Given the description of an element on the screen output the (x, y) to click on. 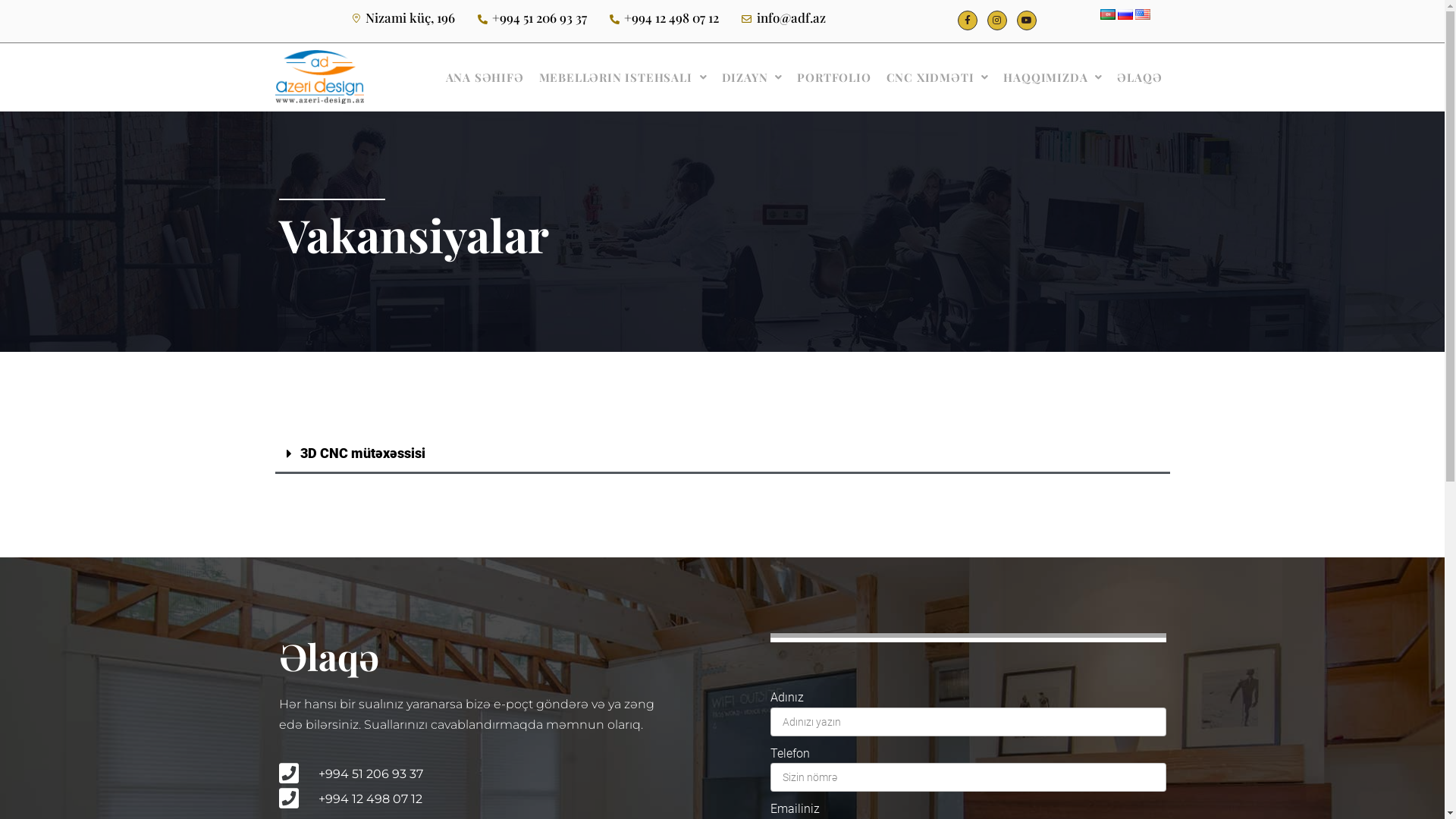
PORTFOLIO Element type: text (833, 77)
HAQQIMIZDA Element type: text (1052, 77)
+994 51 206 93 37 Element type: text (472, 773)
DIZAYN Element type: text (752, 77)
